Given the description of an element on the screen output the (x, y) to click on. 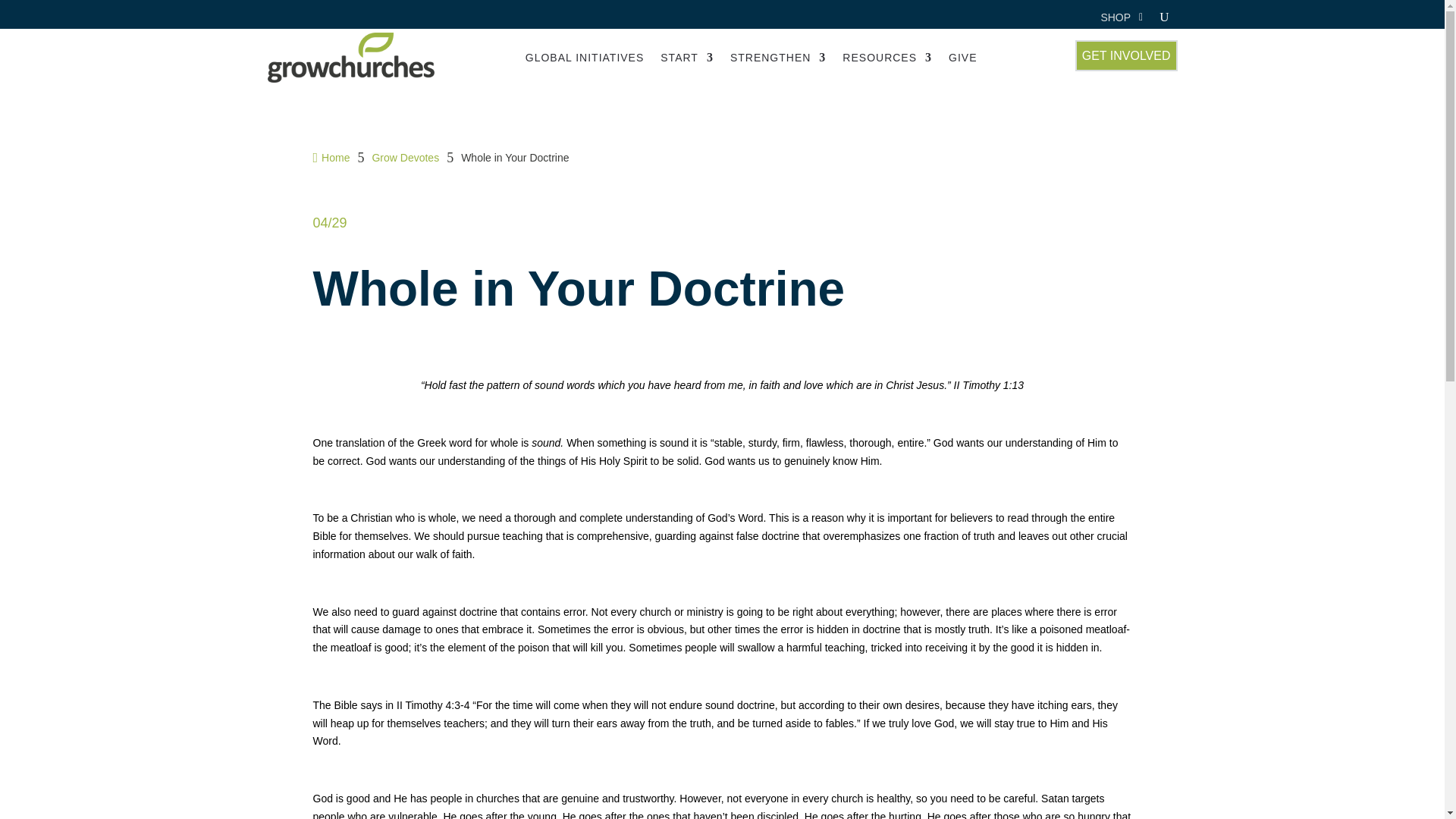
Grow Devotes (405, 157)
GLOBAL INITIATIVES (584, 57)
GET INVOLVED (1126, 55)
START (687, 57)
STRENGTHEN (777, 57)
GIVE (962, 57)
RESOURCES (887, 57)
SHOP (1115, 20)
